Given the description of an element on the screen output the (x, y) to click on. 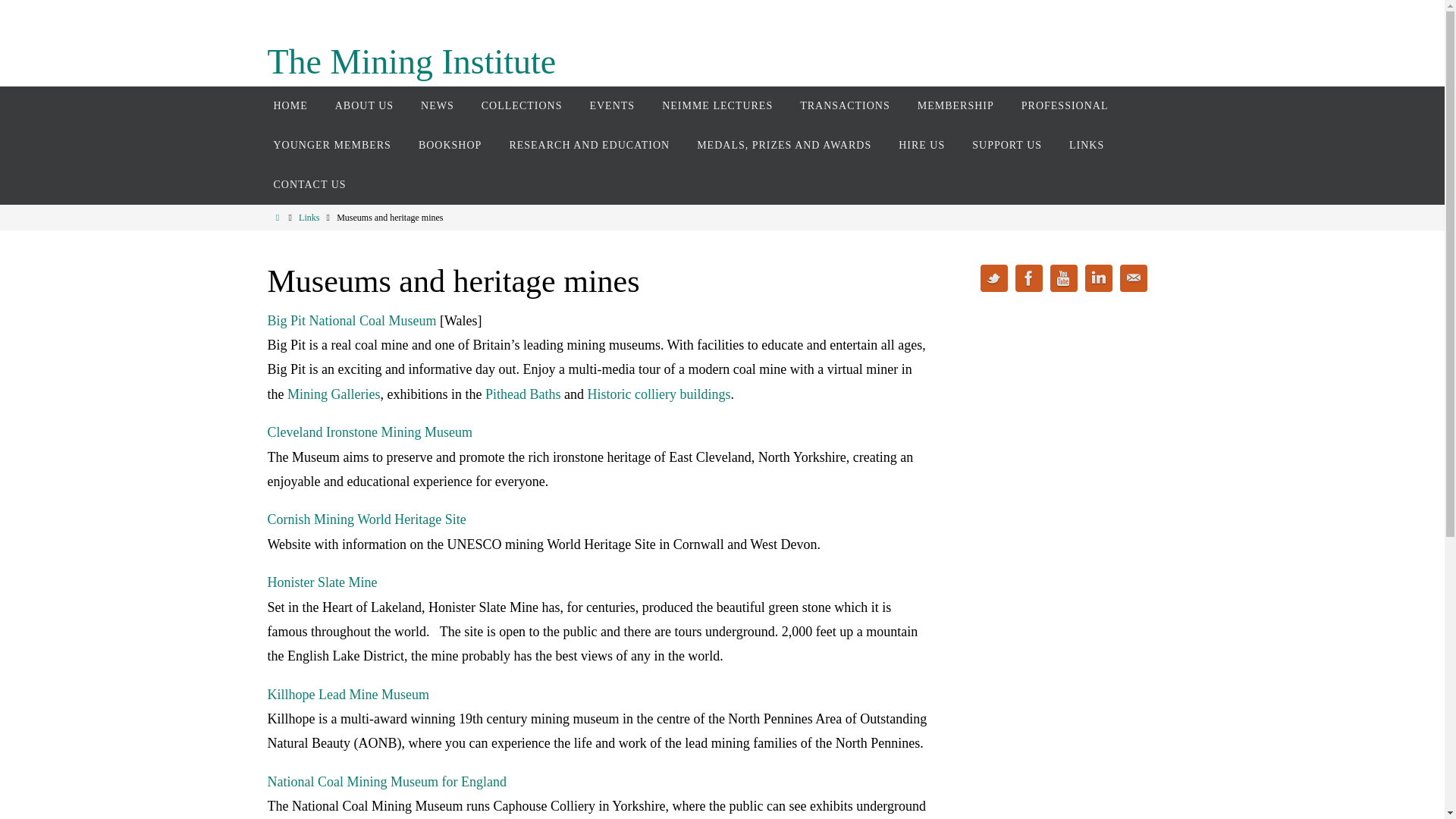
RESEARCH AND EDUCATION (588, 145)
TRANSACTIONS (845, 106)
ABOUT US (364, 106)
Twitter (993, 278)
CONTACT US (309, 184)
HOME (289, 106)
Historic colliery buildings (658, 394)
HIRE US (921, 145)
National Coal Mining Museum for England (385, 781)
Killhope Lead Mine Museum (347, 694)
LinkedIn (1098, 278)
Mining Galleries (333, 394)
COLLECTIONS (521, 106)
PROFESSIONAL (1064, 106)
MEDALS, PRIZES AND AWARDS (783, 145)
